Given the description of an element on the screen output the (x, y) to click on. 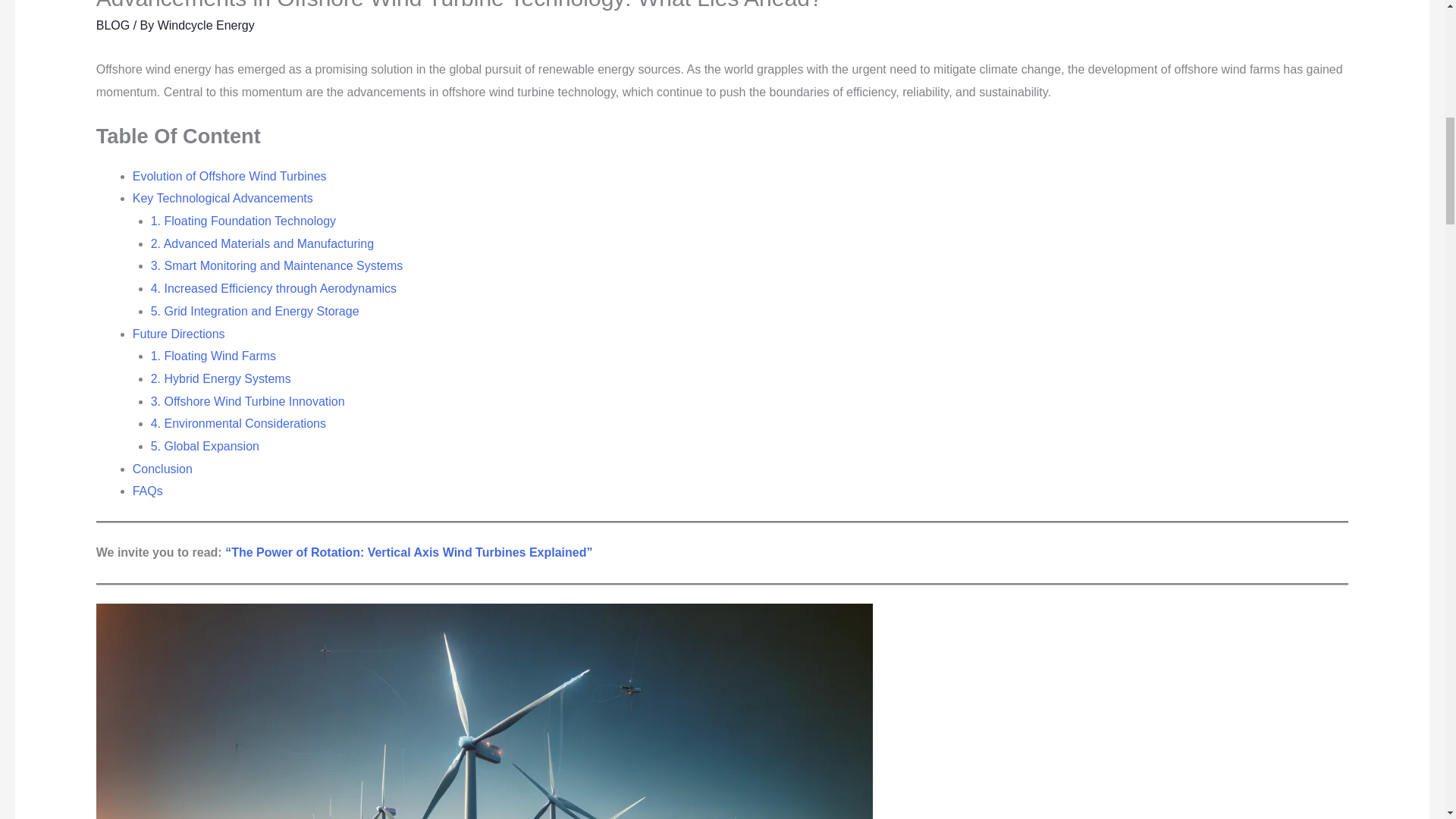
View all posts by Windcycle Energy (205, 24)
